Given the description of an element on the screen output the (x, y) to click on. 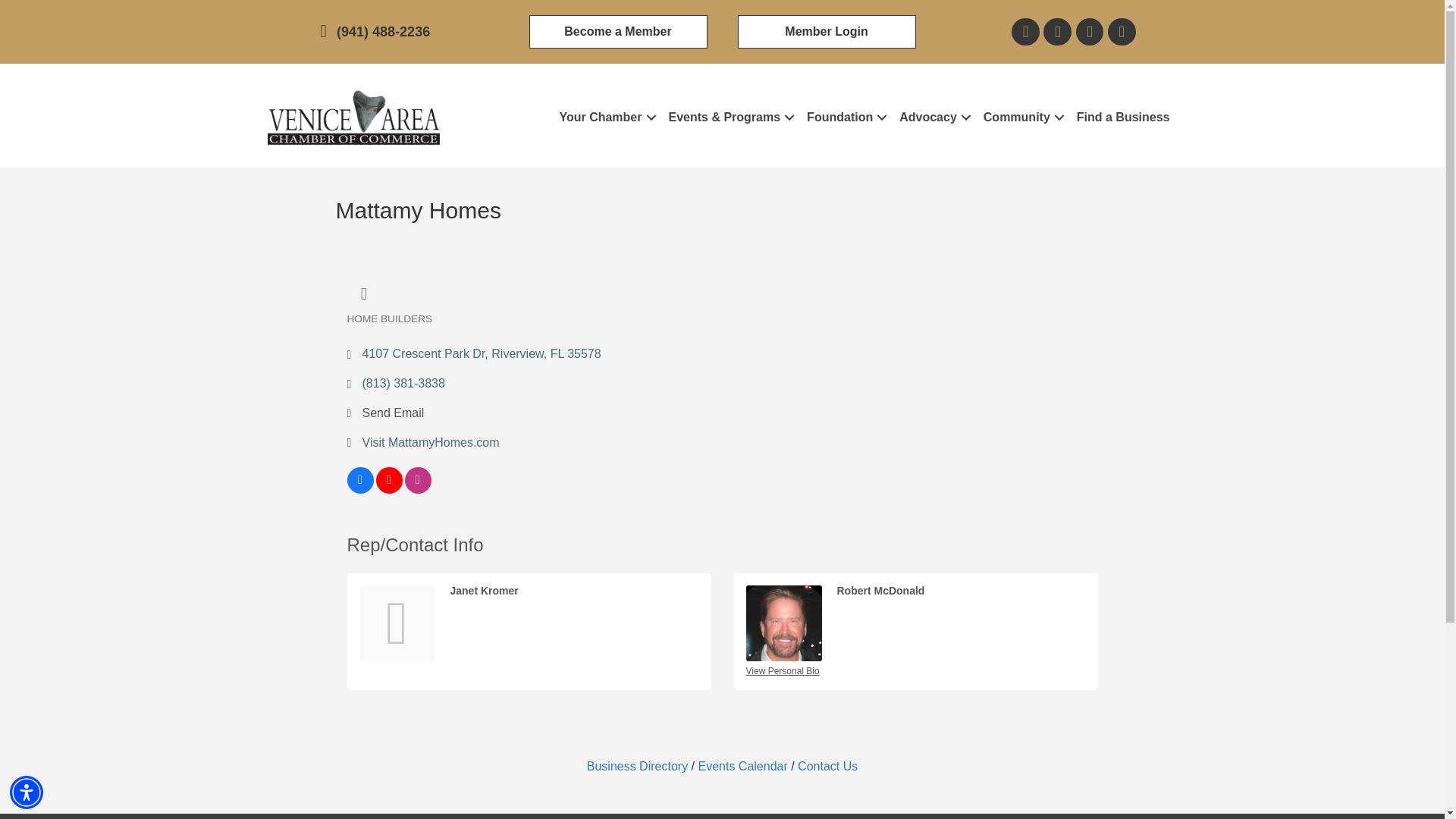
Community (1021, 117)
Advocacy (933, 117)
Member Login (825, 31)
View on YouTube (389, 489)
Foundation (845, 117)
View on Facebook (360, 489)
Send Email (393, 412)
Visit MattamyHomes.com (430, 441)
Accessibility Menu (26, 792)
View on Instagram (417, 489)
Your Chamber (605, 117)
Find a Business (1122, 117)
4107 Crescent Park Dr Riverview FL 35578 (481, 353)
Become a Member (618, 31)
